Given the description of an element on the screen output the (x, y) to click on. 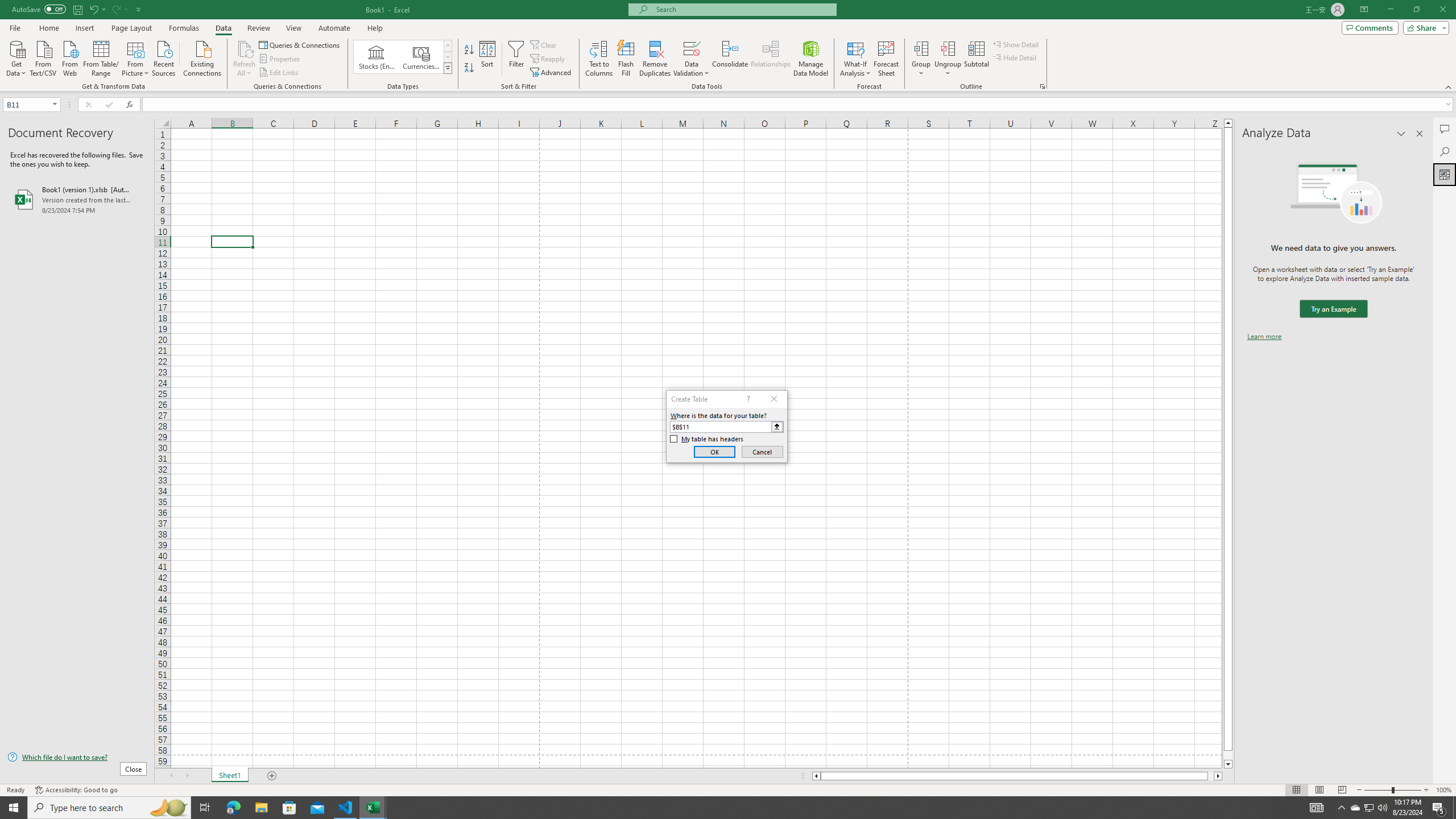
Existing Connections (202, 57)
Data Validation... (691, 48)
Show Detail (1016, 44)
Get Data (16, 57)
Text to Columns... (598, 58)
From Table/Range (100, 57)
Consolidate... (729, 58)
Hide Detail (1014, 56)
From Text/CSV (43, 57)
Microsoft search (742, 9)
